Given the description of an element on the screen output the (x, y) to click on. 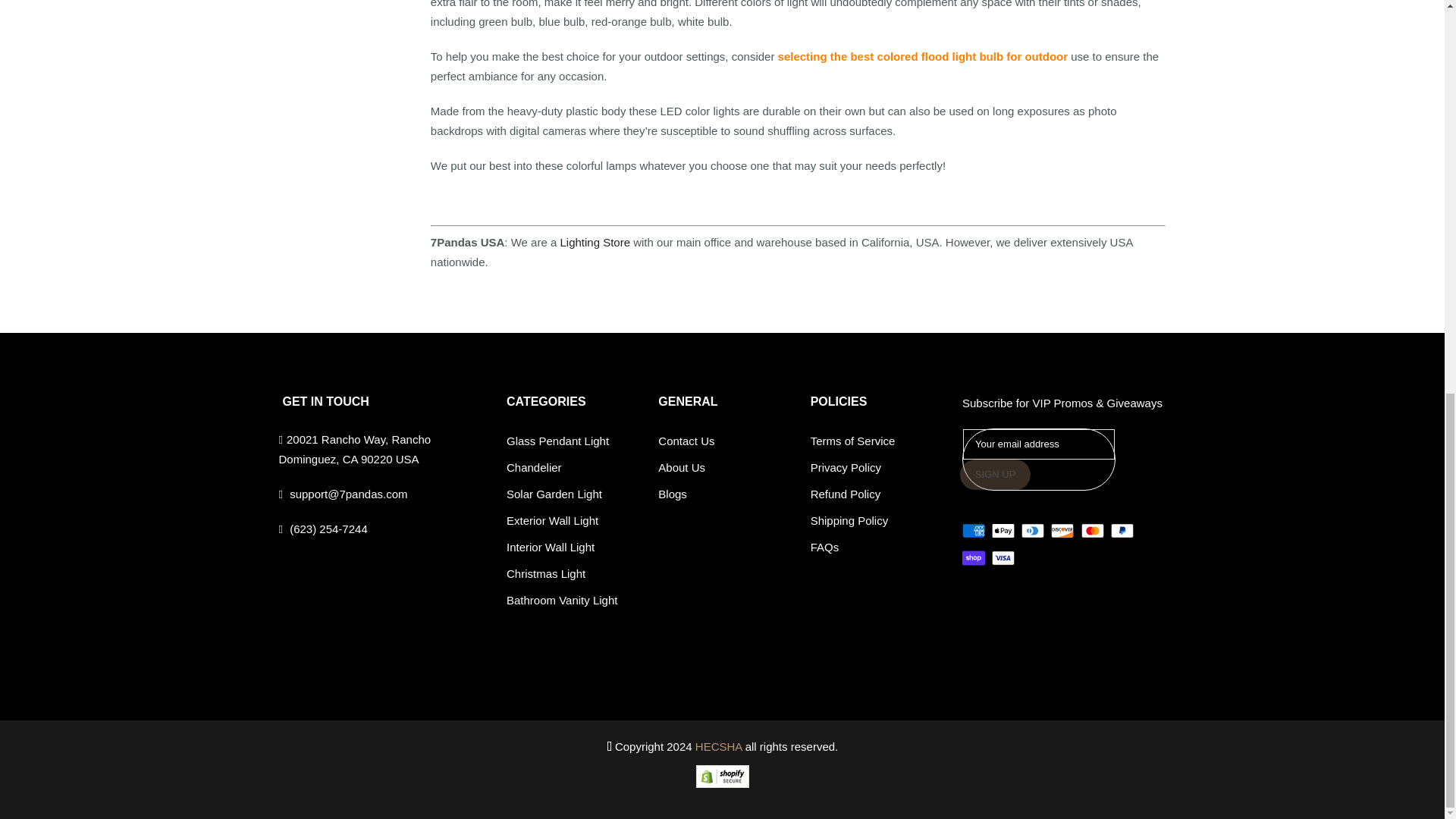
PayPal (1122, 530)
American Express (973, 530)
Apple Pay (1002, 530)
Mastercard (1092, 530)
Sign up (994, 474)
Shop Pay (973, 558)
Discover (1062, 530)
Visa (1002, 558)
Diners Club (1032, 530)
